Given the description of an element on the screen output the (x, y) to click on. 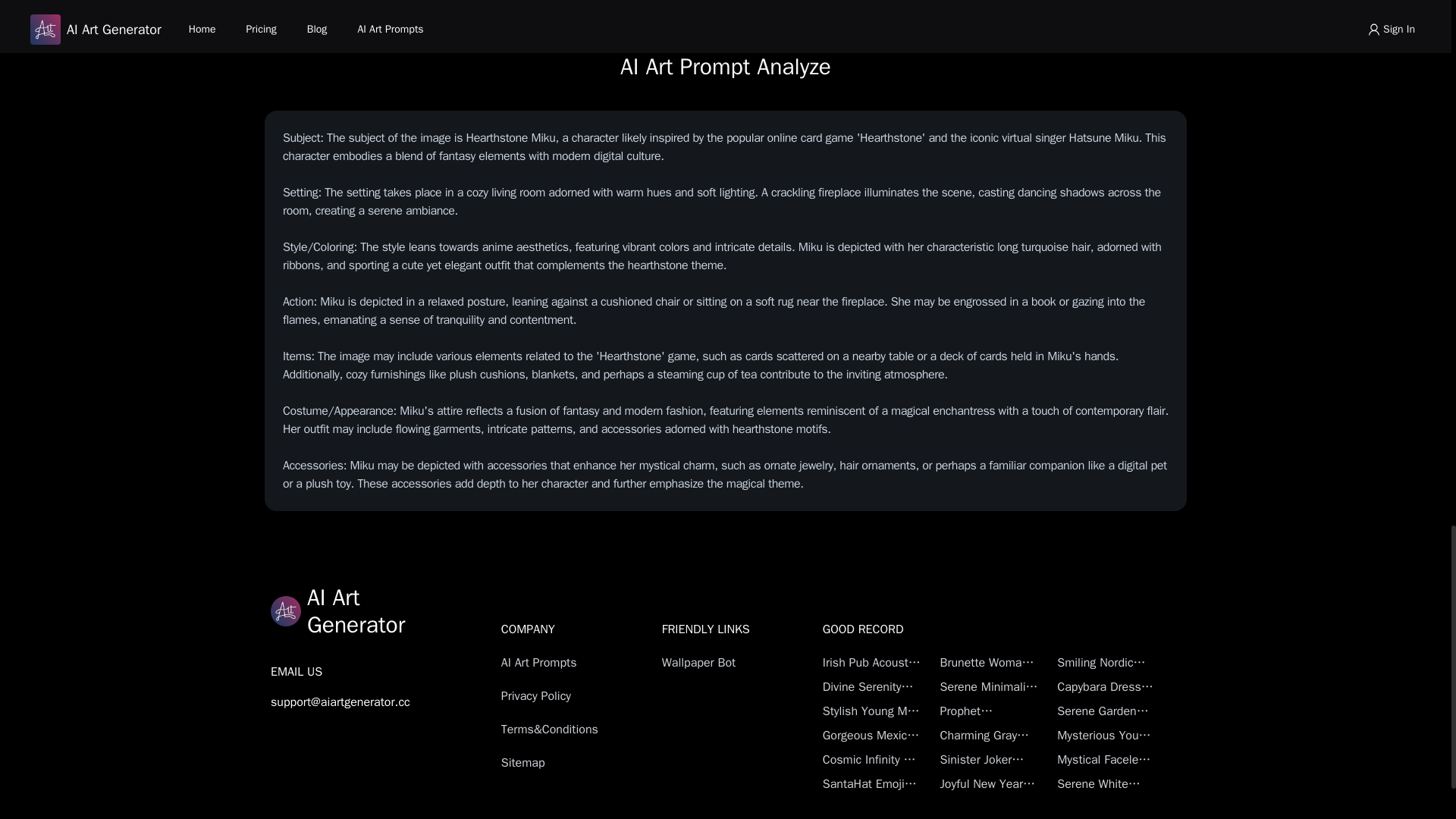
Sitemap (553, 762)
Privacy Policy (553, 696)
Wallpaper Bot (715, 662)
AI Art Generator (340, 610)
Brunette Woman in Blue Jeans Standing by Gray Wardrobe (989, 662)
